Given the description of an element on the screen output the (x, y) to click on. 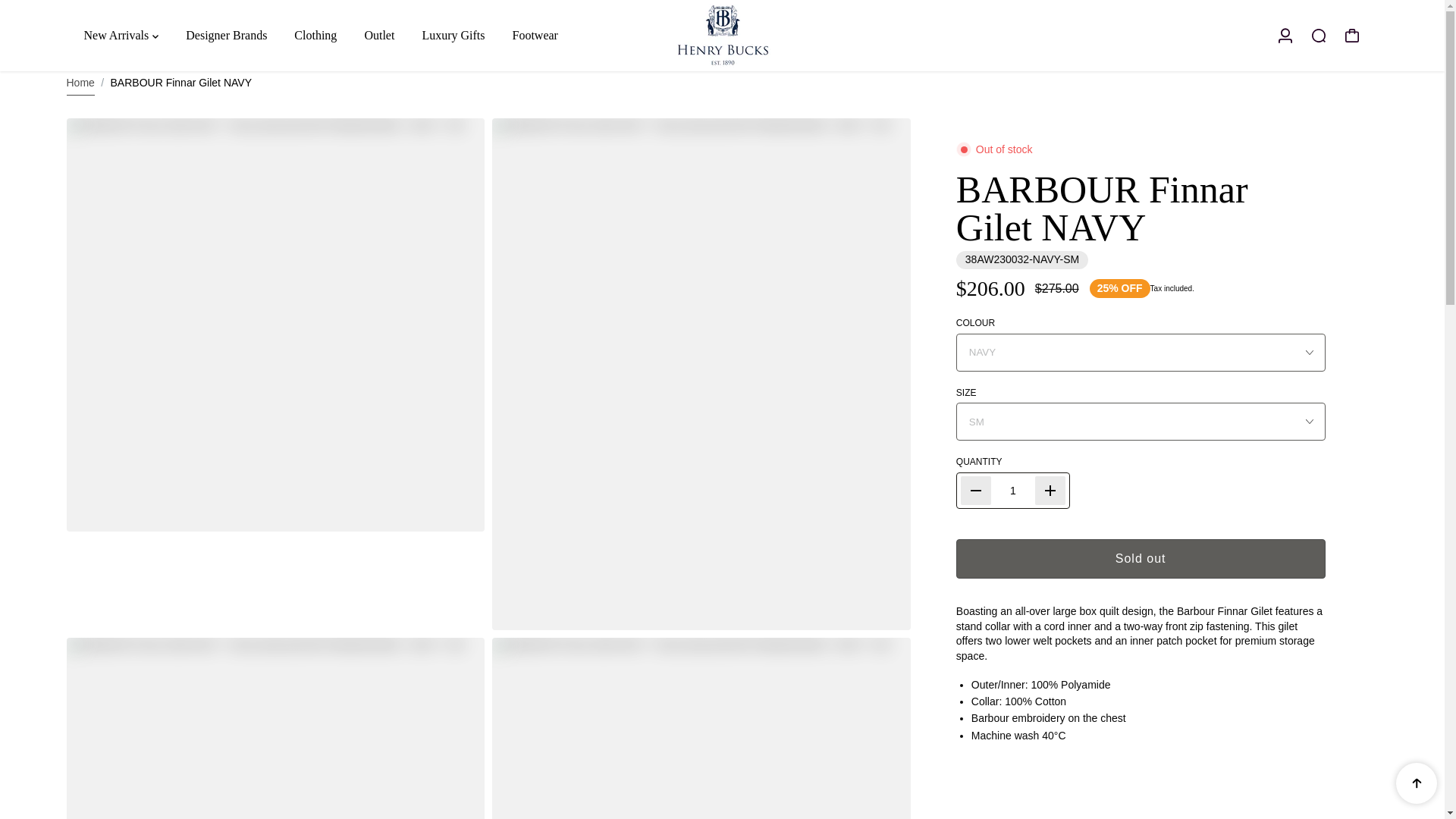
Luxury Gifts (452, 35)
Clothing (315, 35)
1 (1013, 490)
Home (80, 83)
Home (80, 83)
Designer Brands (226, 35)
Outlet (379, 35)
Footwear (534, 35)
Search (1318, 35)
New Arrivals (120, 35)
Log in (1284, 35)
Sold out (1140, 558)
